Given the description of an element on the screen output the (x, y) to click on. 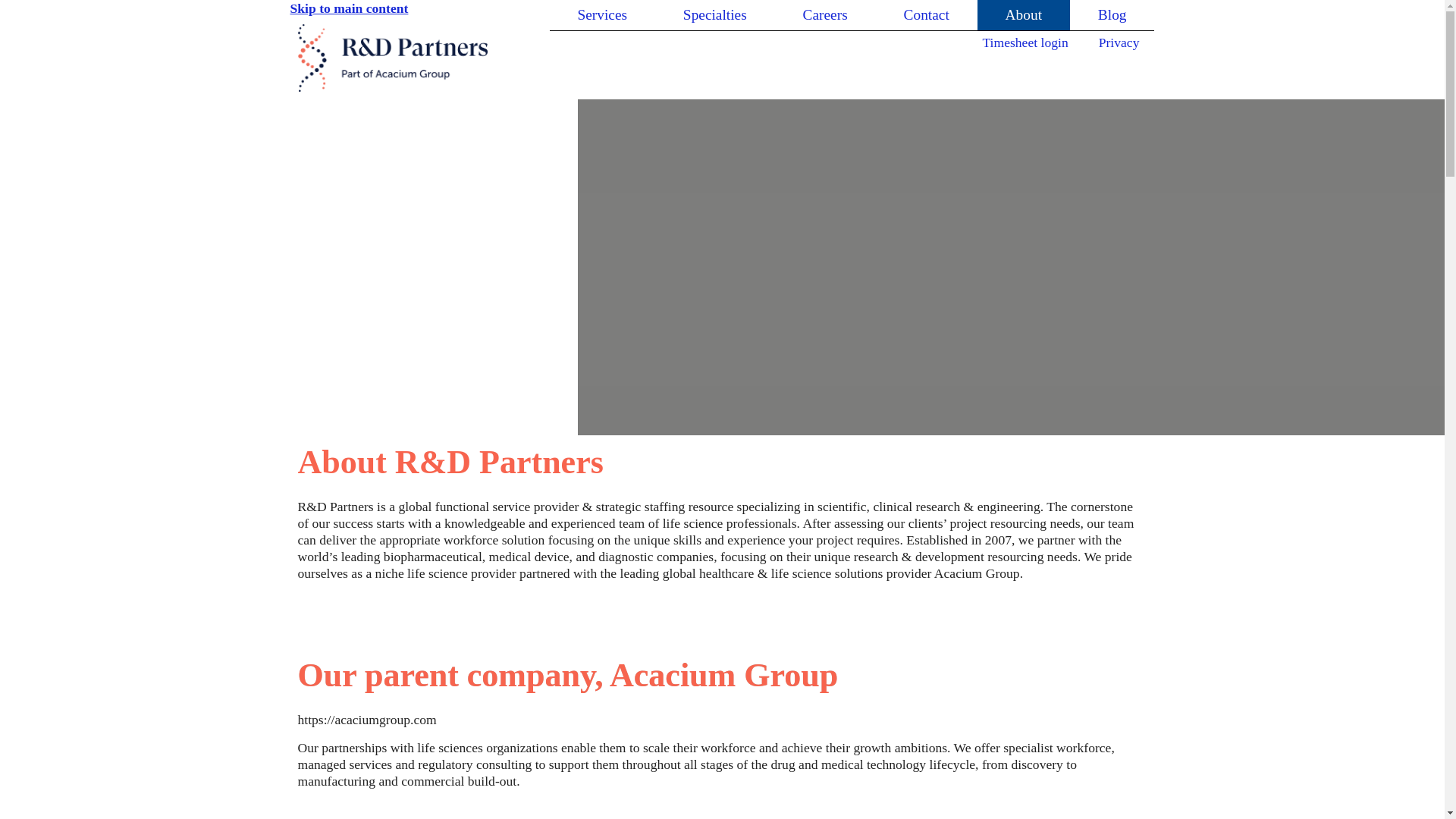
Contact (926, 15)
Privacy (1118, 42)
About (1023, 15)
Services (600, 15)
Specialties (714, 15)
Skip to main content (348, 7)
Careers (825, 15)
Timesheet login (1024, 42)
Blog (1112, 15)
